Given the description of an element on the screen output the (x, y) to click on. 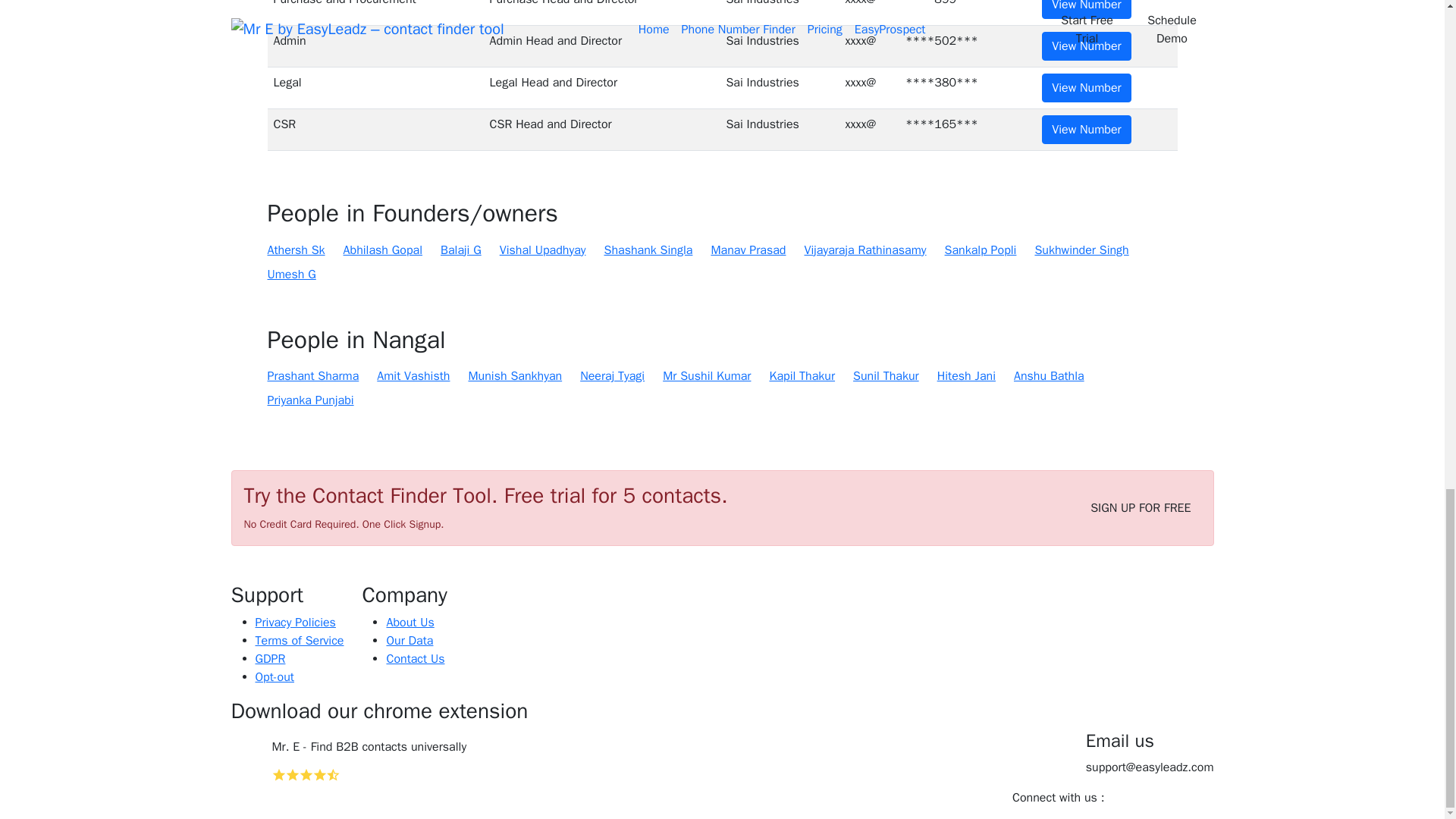
Prashant Sharma (312, 375)
View Number (1086, 87)
View Number (1086, 9)
View Number (1086, 45)
Balaji G (461, 249)
Umesh G (290, 274)
Munish Sankhyan (514, 375)
Sukhwinder Singh (1080, 249)
View Number (1086, 129)
Sankalp Popli (980, 249)
Manav Prasad (748, 249)
Athersh Sk (295, 249)
Vijayaraja Rathinasamy (864, 249)
Shashank Singla (648, 249)
Vishal Upadhyay (542, 249)
